Given the description of an element on the screen output the (x, y) to click on. 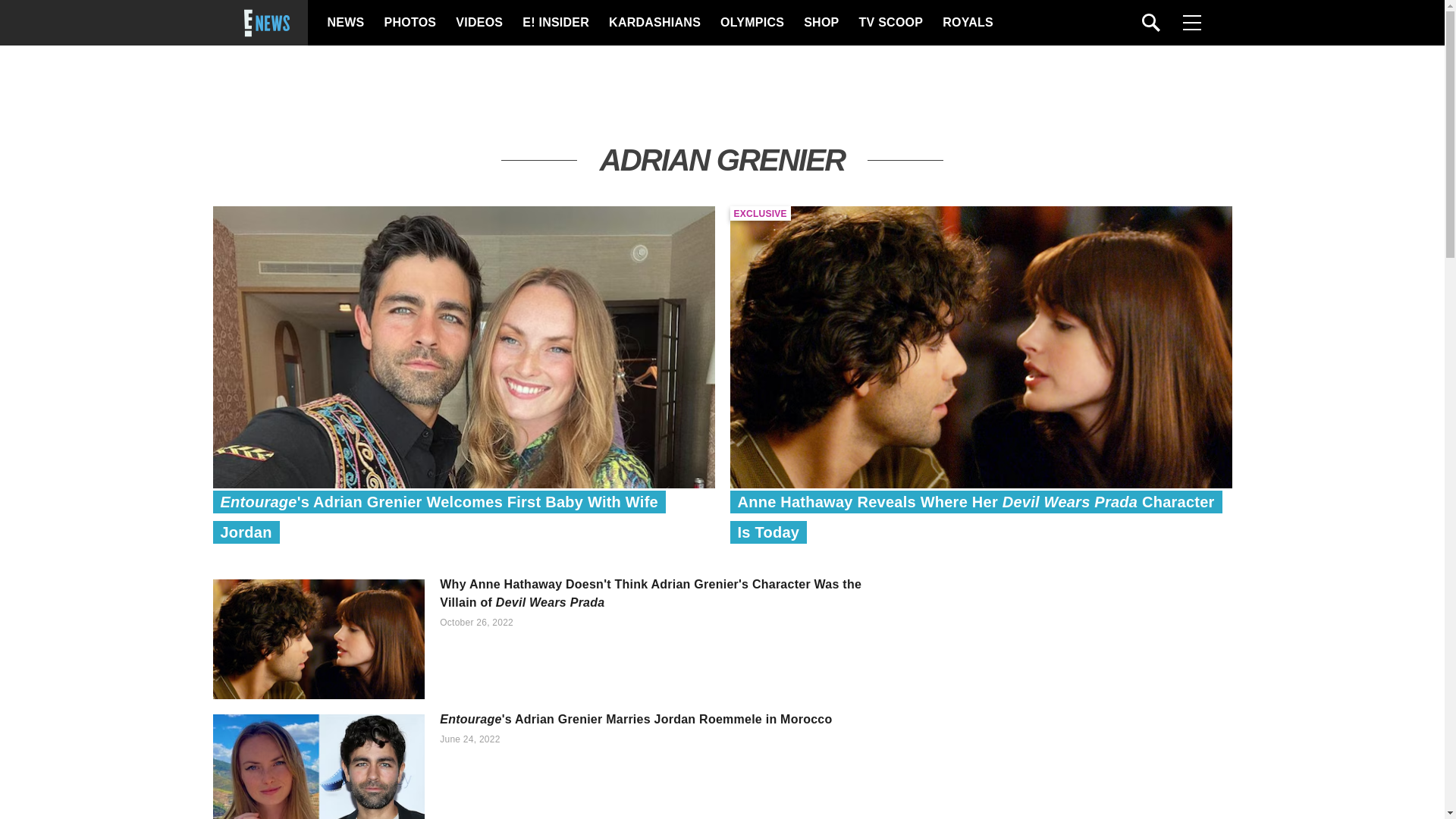
ROYALS (966, 22)
PHOTOS (408, 22)
TV SCOOP (890, 22)
E! INSIDER (555, 22)
NEWS (345, 22)
OLYMPICS (751, 22)
